Given the description of an element on the screen output the (x, y) to click on. 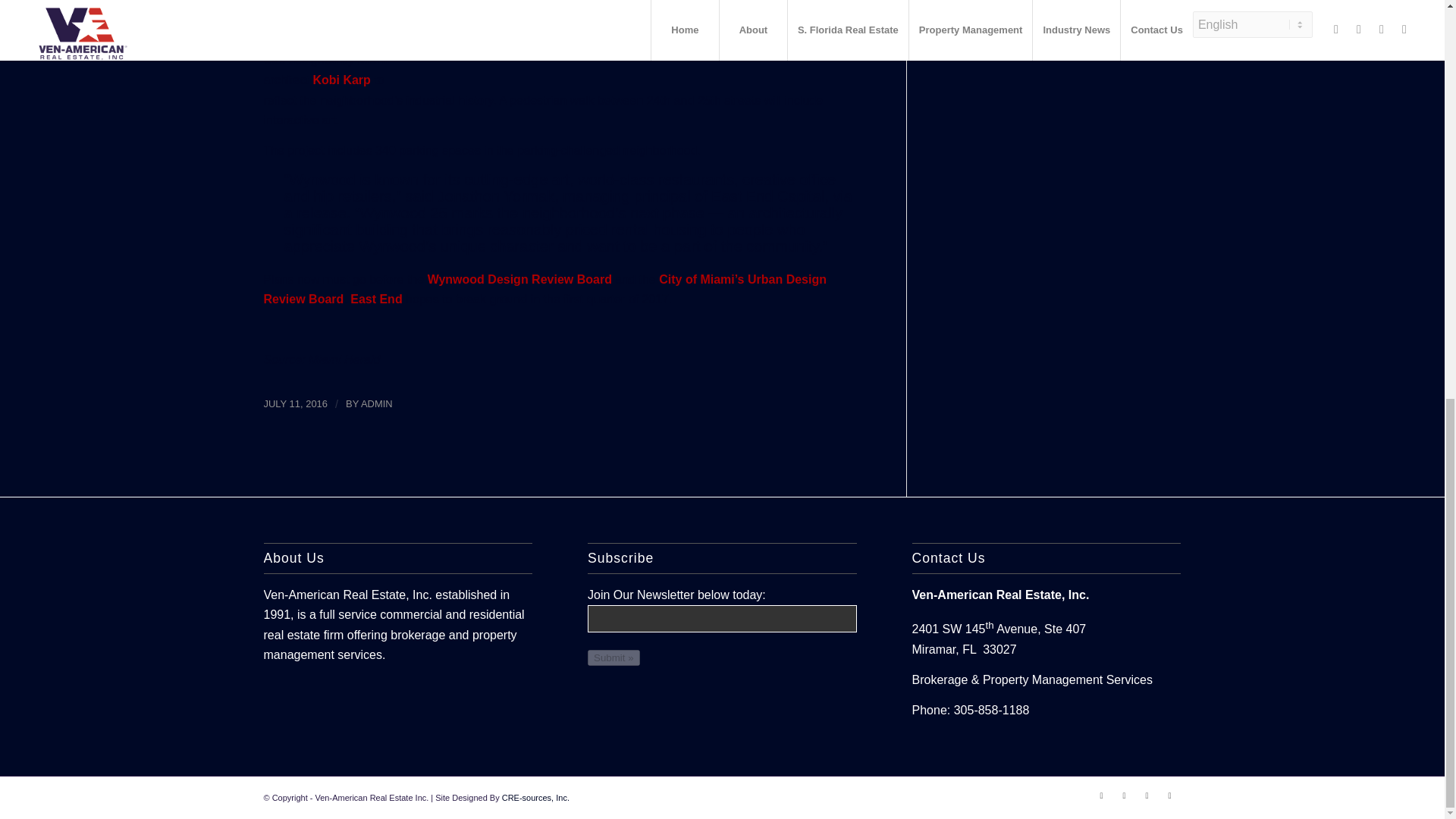
Facebook (1101, 794)
Posts by ADMIN (377, 403)
Rss (1169, 794)
LinkedIn (1146, 794)
ADMIN (377, 403)
Miami Herald (344, 359)
CRE-sources, Inc. (535, 797)
Twitter (1124, 794)
